Given the description of an element on the screen output the (x, y) to click on. 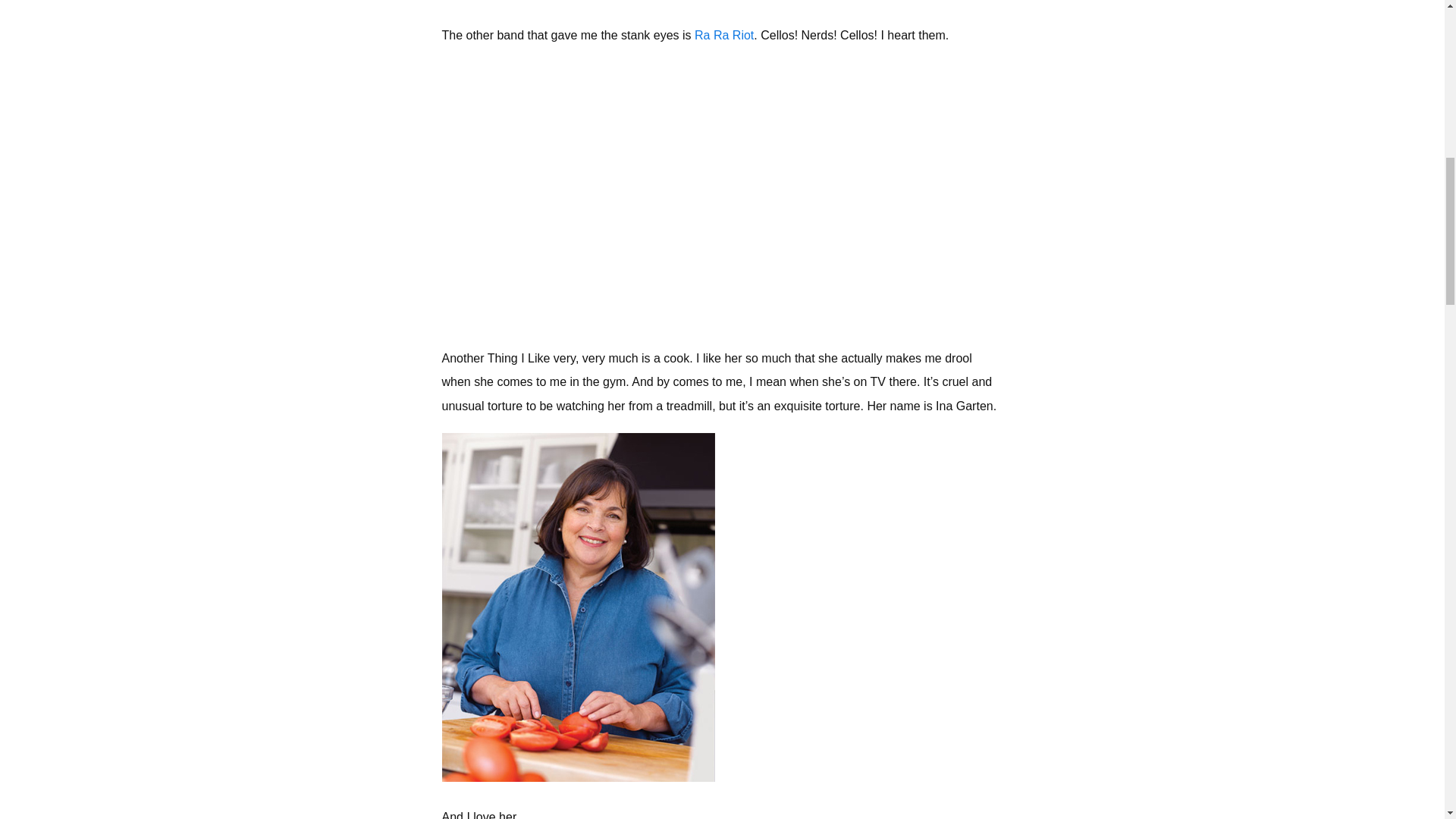
Ra Ra Riot (724, 34)
